Given the description of an element on the screen output the (x, y) to click on. 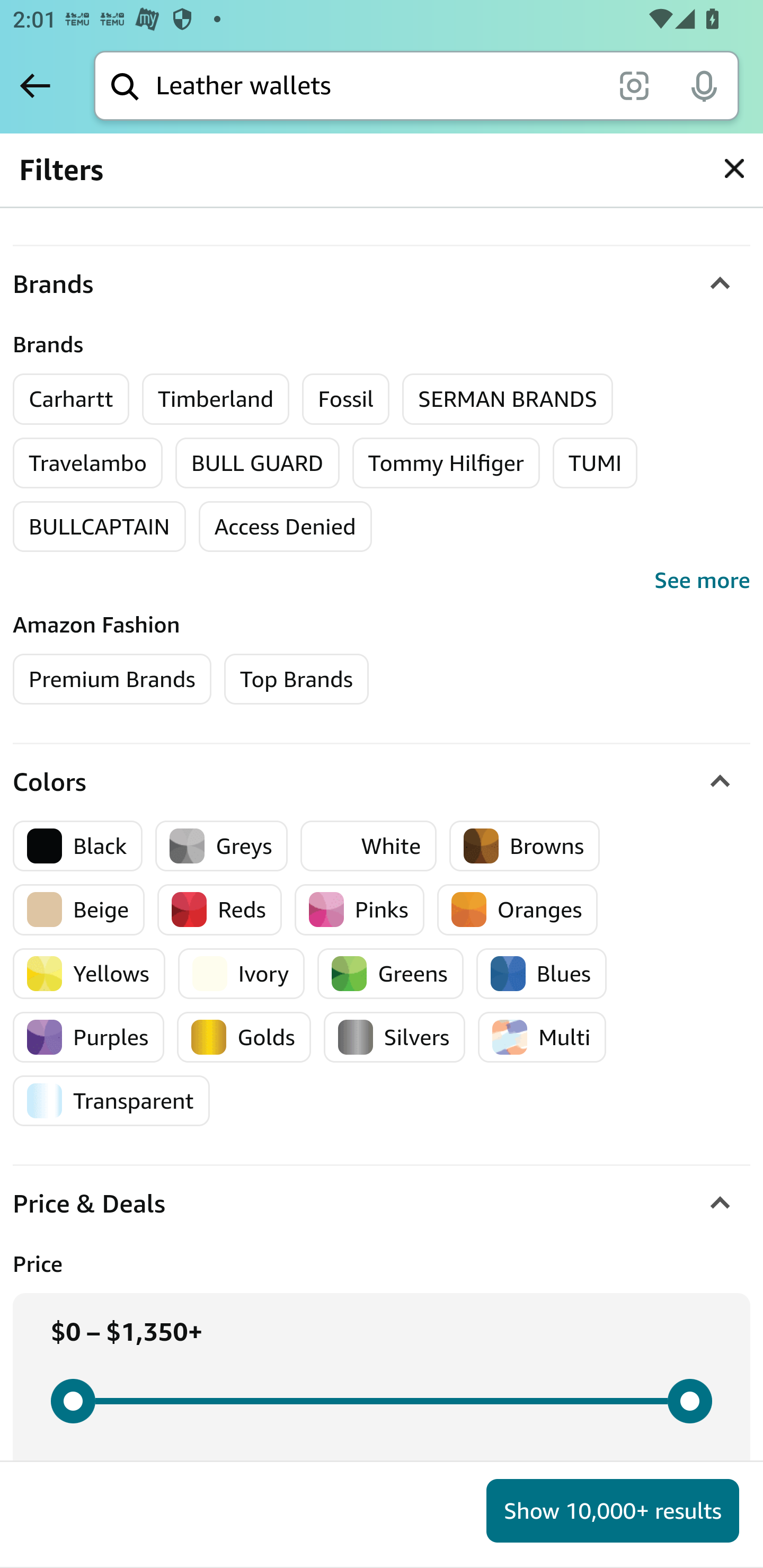
Back (35, 85)
scan it (633, 85)
All (47, 181)
Brands (381, 285)
Carhartt (71, 399)
Timberland (215, 399)
Fossil (346, 399)
SERMAN BRANDS (507, 399)
Travelambo (88, 463)
BULL GUARD (257, 463)
Tommy Hilfiger (445, 463)
TUMI (595, 463)
BULLCAPTAIN (99, 526)
Access Denied (284, 526)
See more, Brands See more (381, 580)
Premium Brands (111, 679)
Top Brands (295, 679)
Colors (381, 782)
Black Black Black Black (77, 845)
Greys Greys Greys Greys (221, 845)
White White White White (368, 845)
Browns Browns Browns Browns (524, 845)
Beige Beige Beige Beige (79, 910)
Reds Reds Reds Reds (220, 910)
Pinks Pinks Pinks Pinks (358, 910)
Oranges Oranges Oranges Oranges (516, 910)
Yellows Yellows Yellows Yellows (88, 973)
Ivory Ivory Ivory Ivory (240, 973)
Greens Greens Greens Greens (389, 973)
Blues Blues Blues Blues (541, 973)
Purples Purples Purples Purples (88, 1037)
Golds Golds Golds Golds (243, 1037)
Silvers Silvers Silvers Silvers (393, 1037)
Multi Multi Multi Multi (541, 1037)
Transparent Transparent Transparent Transparent (110, 1100)
Price & Deals (381, 1204)
Show 10,000+ results (612, 1510)
